Given the description of an element on the screen output the (x, y) to click on. 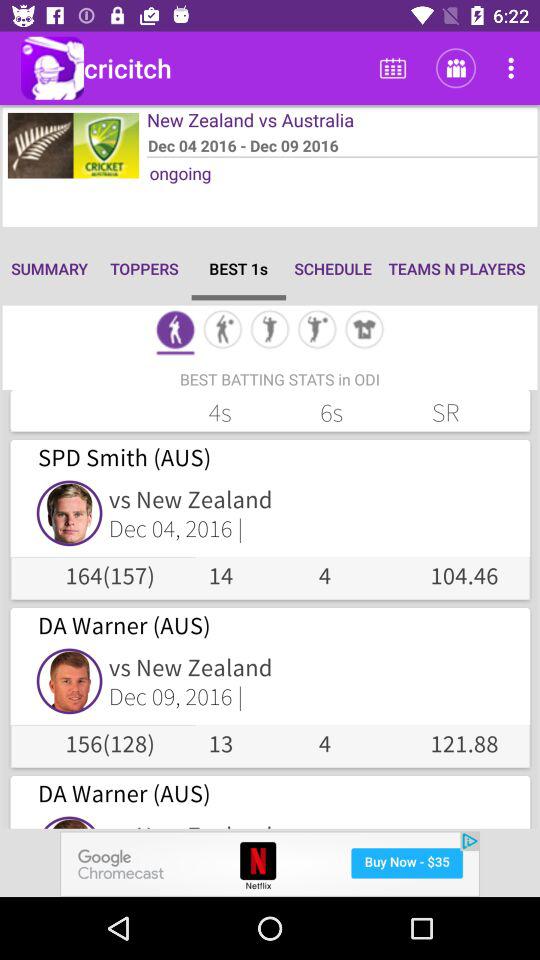
go to buy google chromecast (270, 864)
